Given the description of an element on the screen output the (x, y) to click on. 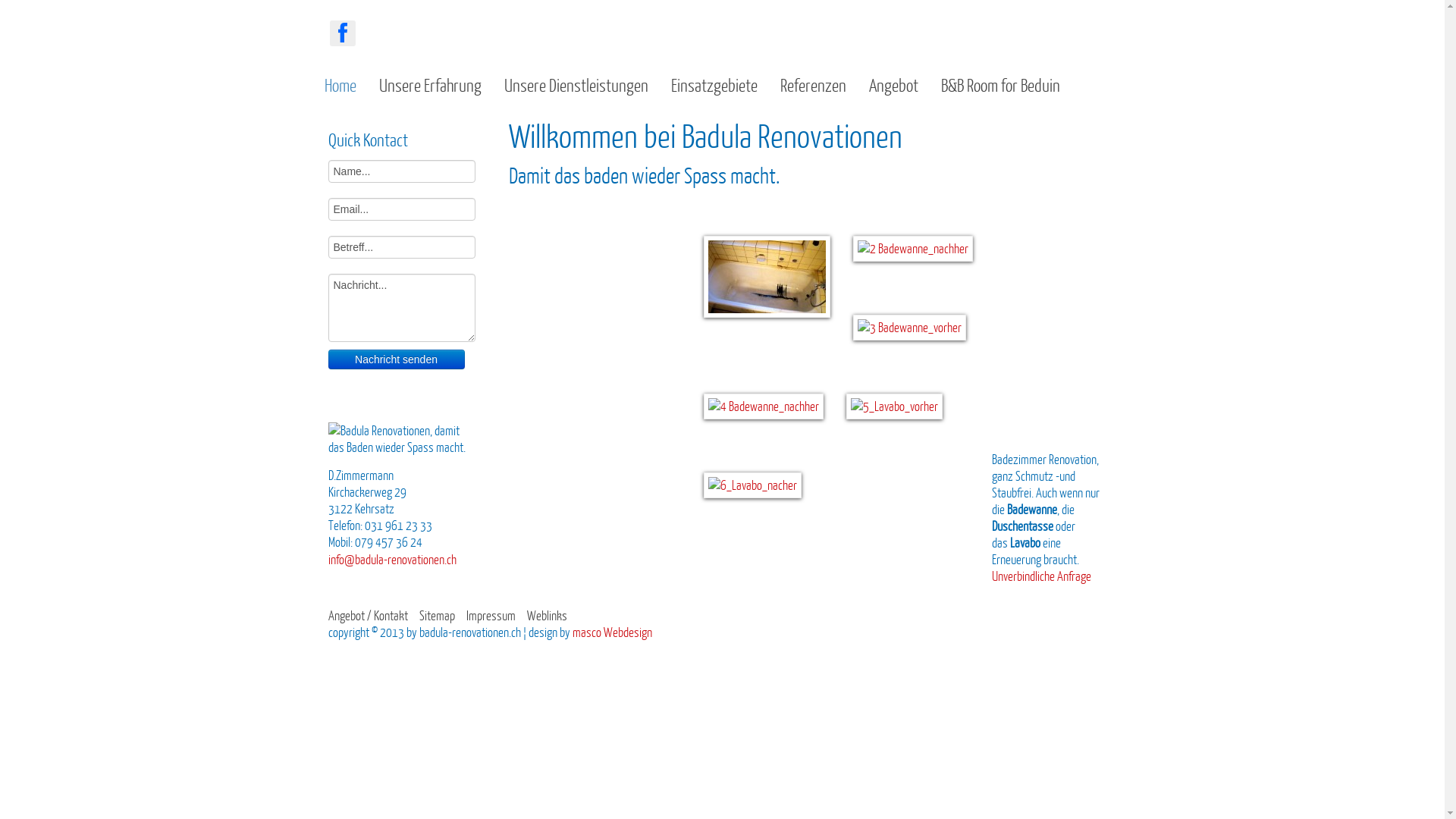
Lavabo nachher Element type: hover (752, 485)
Badwanne vorher Element type: hover (766, 276)
Referenzen Element type: text (812, 84)
Unsere Erfahrung Element type: text (430, 84)
Badewanne nachher Element type: hover (763, 406)
Nachricht senden Element type: text (395, 359)
info@badula-renovationen.ch Element type: text (391, 559)
Weblinks Element type: text (546, 615)
Sitemap Element type: text (436, 615)
Unsere Dienstleistungen Element type: text (575, 84)
BADULA Renovationen Element type: hover (400, 438)
masco Webdesign Element type: text (611, 632)
Angebot / Kontakt Element type: text (367, 615)
badewanne vorher Element type: hover (908, 327)
B&B Room for Beduin Element type: text (999, 84)
Angebot Element type: text (893, 84)
Follow us on Facebook Element type: hover (342, 35)
Einsatzgebiete Element type: text (713, 84)
Home Element type: text (340, 84)
Lavabo vorher Element type: hover (894, 406)
Unverbindliche Anfrage Element type: text (1041, 575)
Badewanne nachher Element type: hover (912, 248)
Impressum Element type: text (489, 615)
